Given the description of an element on the screen output the (x, y) to click on. 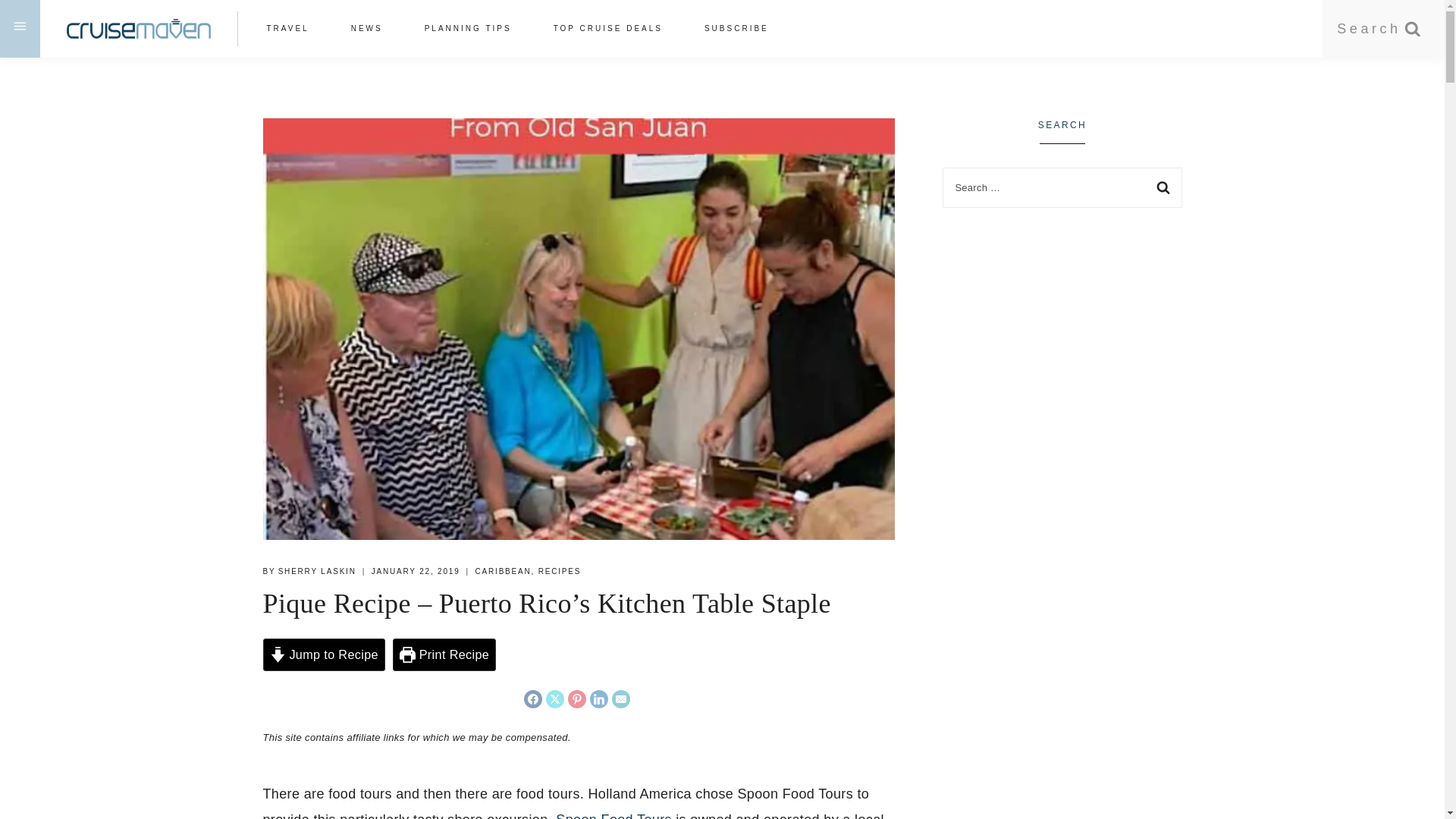
Search (1379, 28)
Share on Facebook (532, 699)
Share on Pinterest (576, 699)
PLANNING TIPS (467, 28)
SHERRY LASKIN (317, 571)
CARIBBEAN (503, 571)
Search (1161, 187)
NEWS (366, 28)
SUBSCRIBE (735, 28)
Jump to Recipe (323, 654)
RECIPES (559, 571)
Share on LinkedIn (598, 699)
Share on Twitter (555, 699)
Search (1161, 187)
TRAVEL (288, 28)
